Given the description of an element on the screen output the (x, y) to click on. 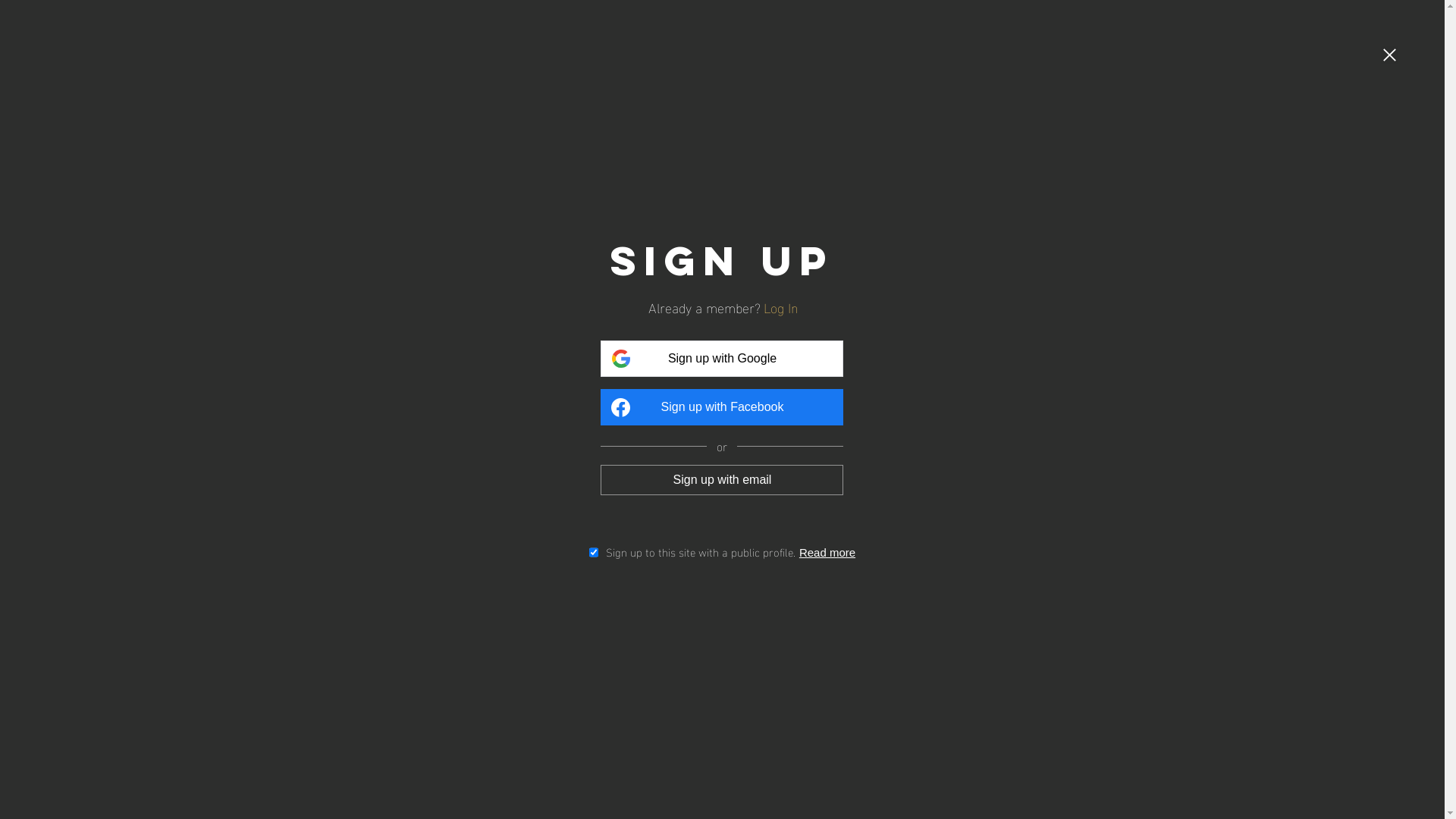
Sign up with Facebook Element type: text (721, 407)
Read more Element type: text (830, 551)
Sign up with Google Element type: text (721, 358)
Log In Element type: text (784, 306)
Sign up with email Element type: text (721, 479)
